Given the description of an element on the screen output the (x, y) to click on. 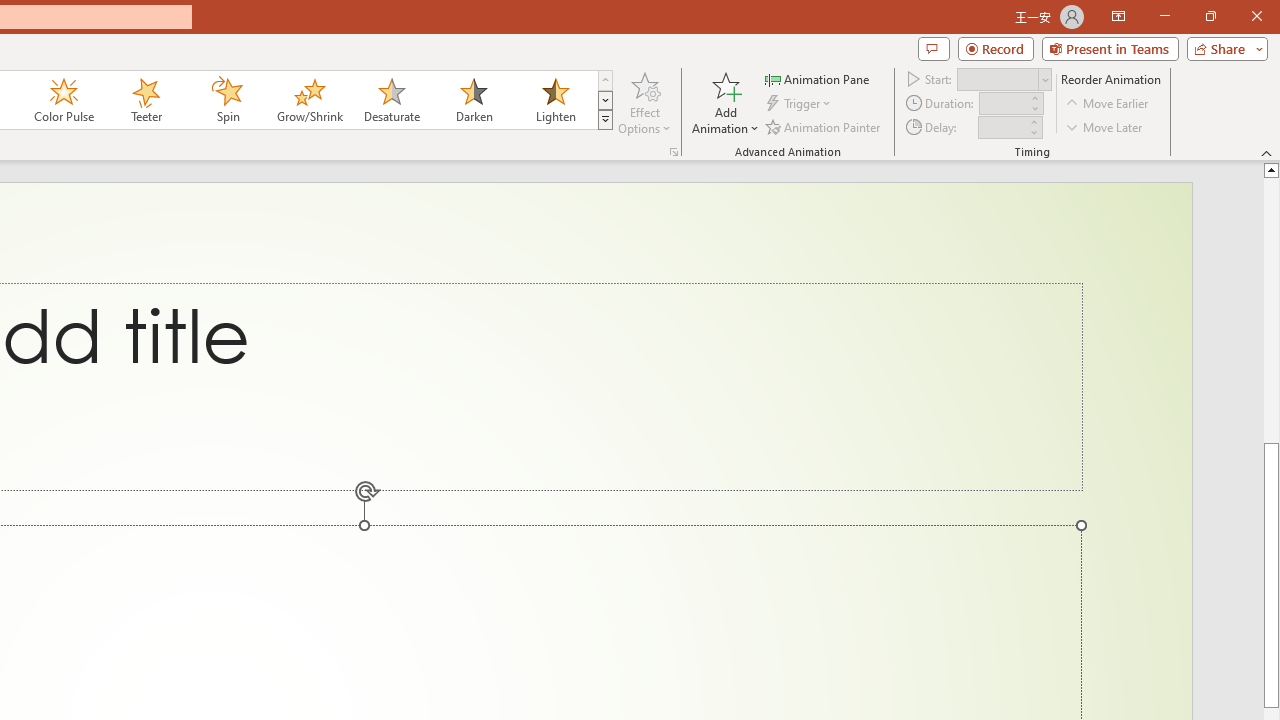
Teeter (145, 100)
Grow/Shrink (309, 100)
Desaturate (391, 100)
